Given the description of an element on the screen output the (x, y) to click on. 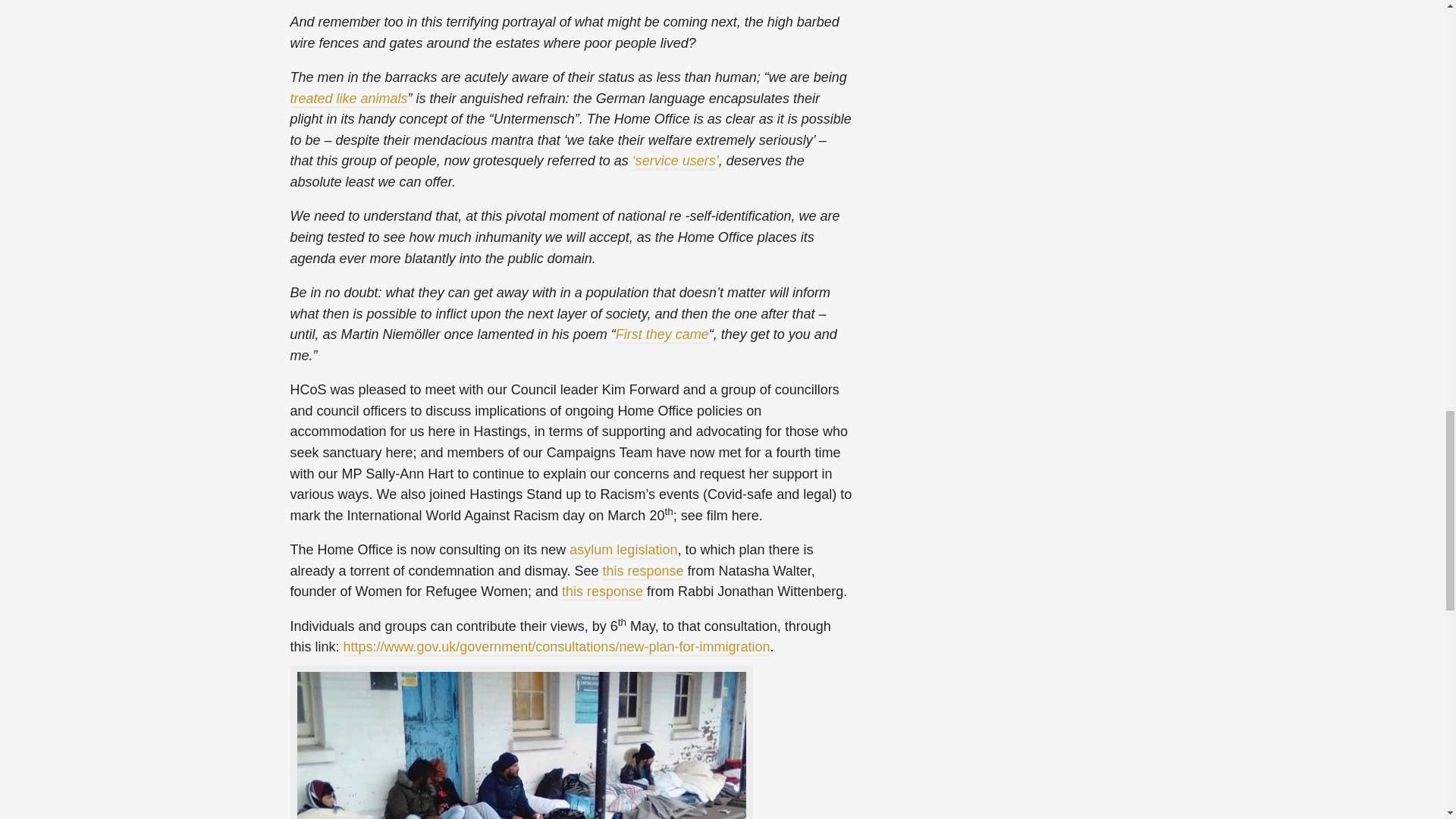
treated like animals (567, 108)
First they came (662, 334)
